Given the description of an element on the screen output the (x, y) to click on. 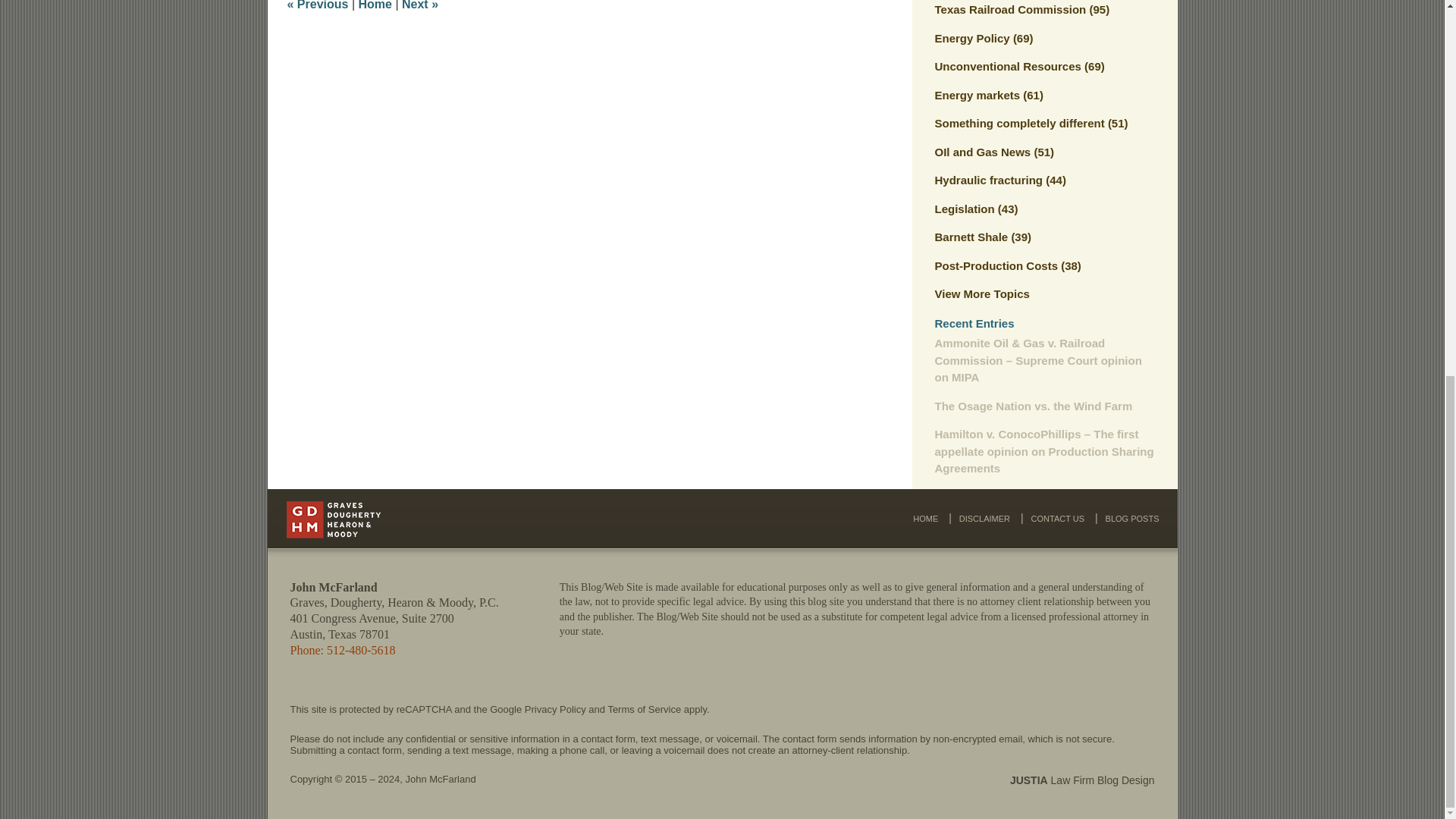
Great graphic from the Energy Information Administration (316, 5)
Home (374, 5)
